Given the description of an element on the screen output the (x, y) to click on. 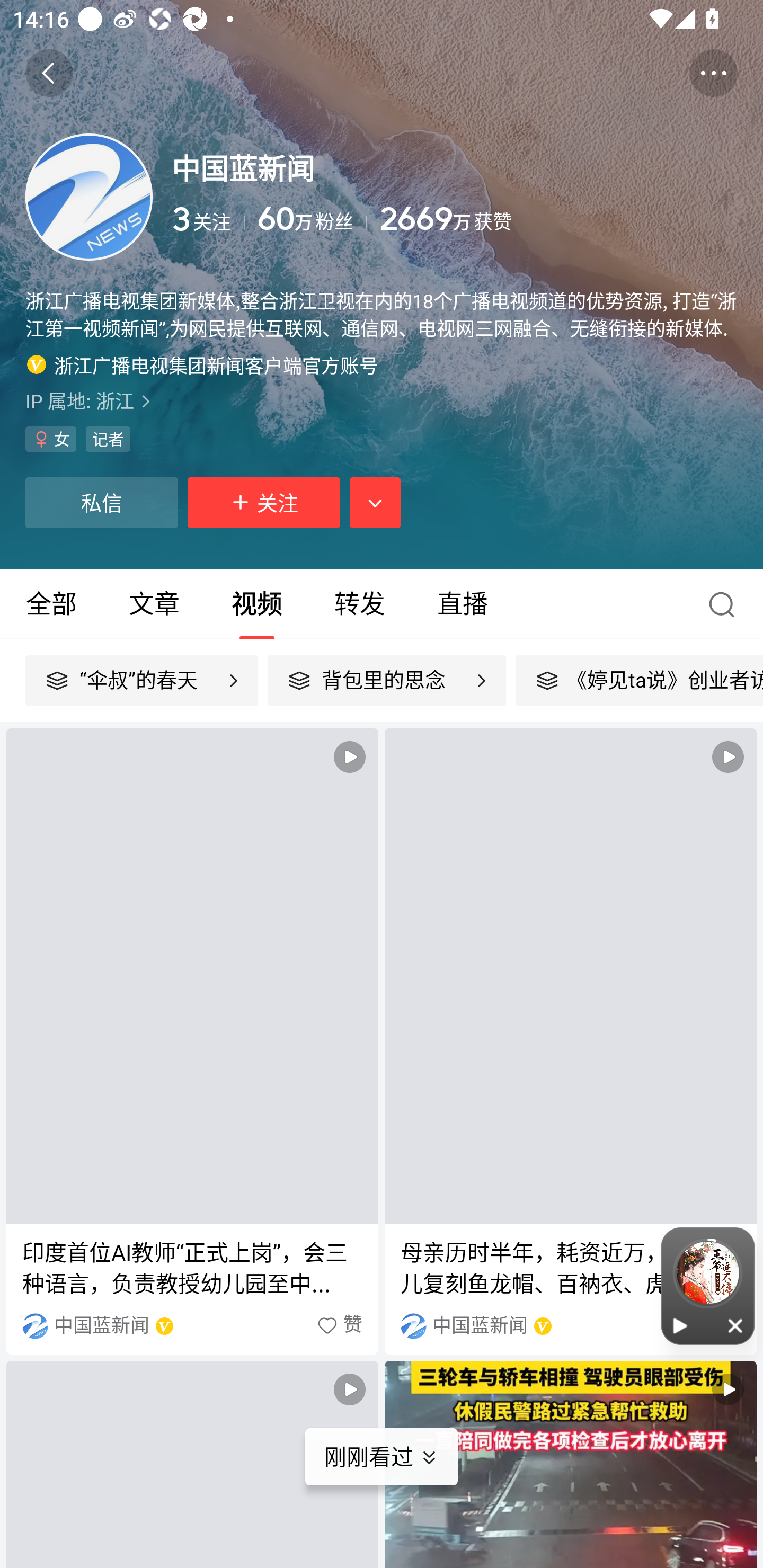
返回 (49, 72)
更多操作 (713, 72)
头像 (88, 196)
3 关注 (207, 219)
60万 粉丝 (311, 219)
2669万 获赞 (558, 219)
浙江广播电视集团新闻客户端官方账号 (202, 364)
IP 属地: 浙江 (381, 400)
性别女 女 (50, 438)
记者 (107, 438)
私信 (101, 502)
     关注 (263, 502)
展开相关推荐，按钮 (374, 502)
全部 (51, 604)
文章 (154, 604)
视频 (256, 604)
转发 (359, 604)
直播 (462, 604)
搜索 (726, 604)
“伞叔”的春天 (141, 680)
背包里的思念 (386, 680)
《婷见ta说》创业者访谈 (639, 680)
播放 关闭 (708, 1286)
播放 (680, 1325)
关闭 (736, 1325)
视频 (570, 1464)
刚刚看过 (393, 1456)
